Given the description of an element on the screen output the (x, y) to click on. 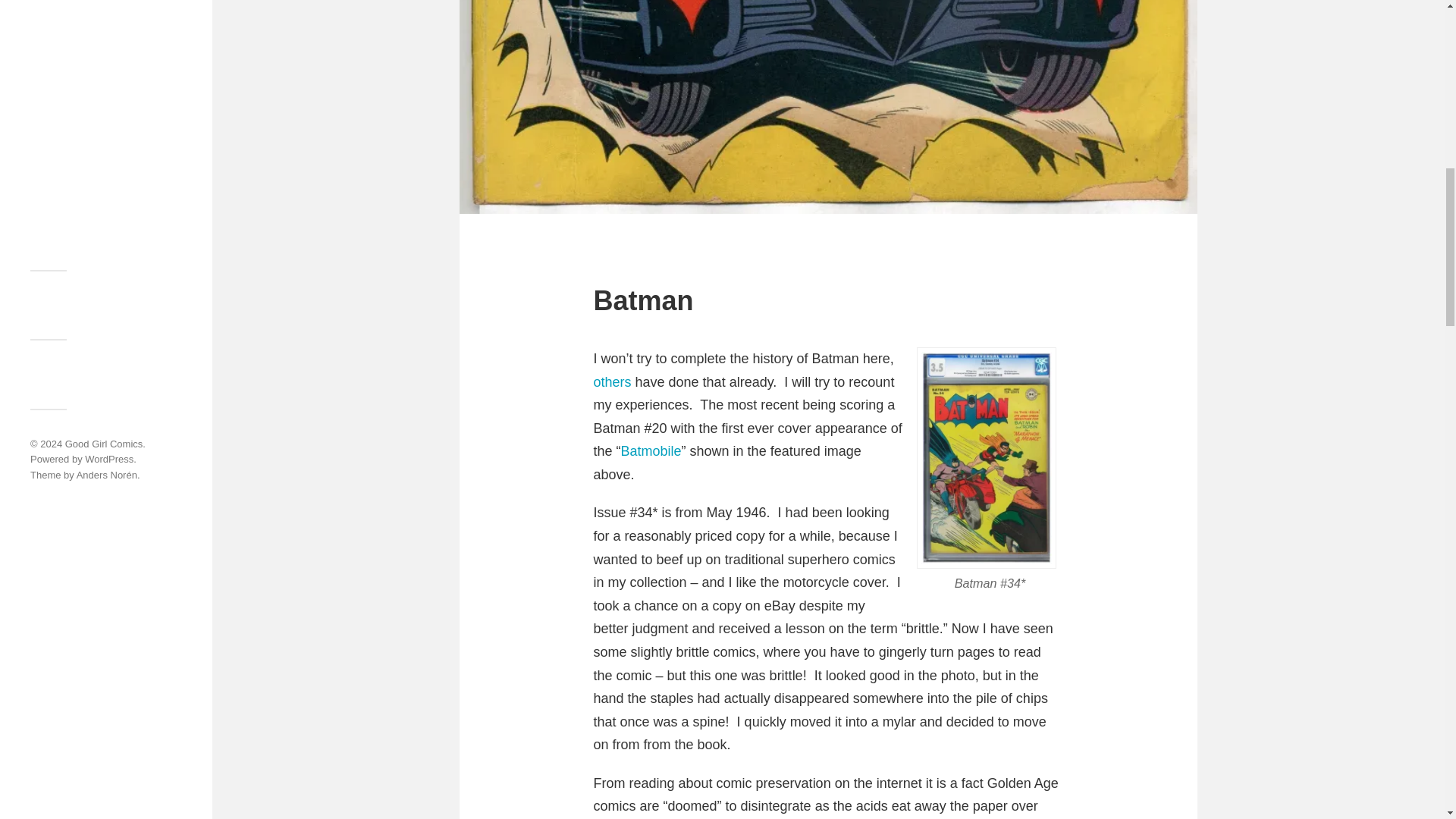
Batmobile (651, 450)
WordPress (108, 459)
Good Girl Comics (103, 443)
others (611, 381)
